Given the description of an element on the screen output the (x, y) to click on. 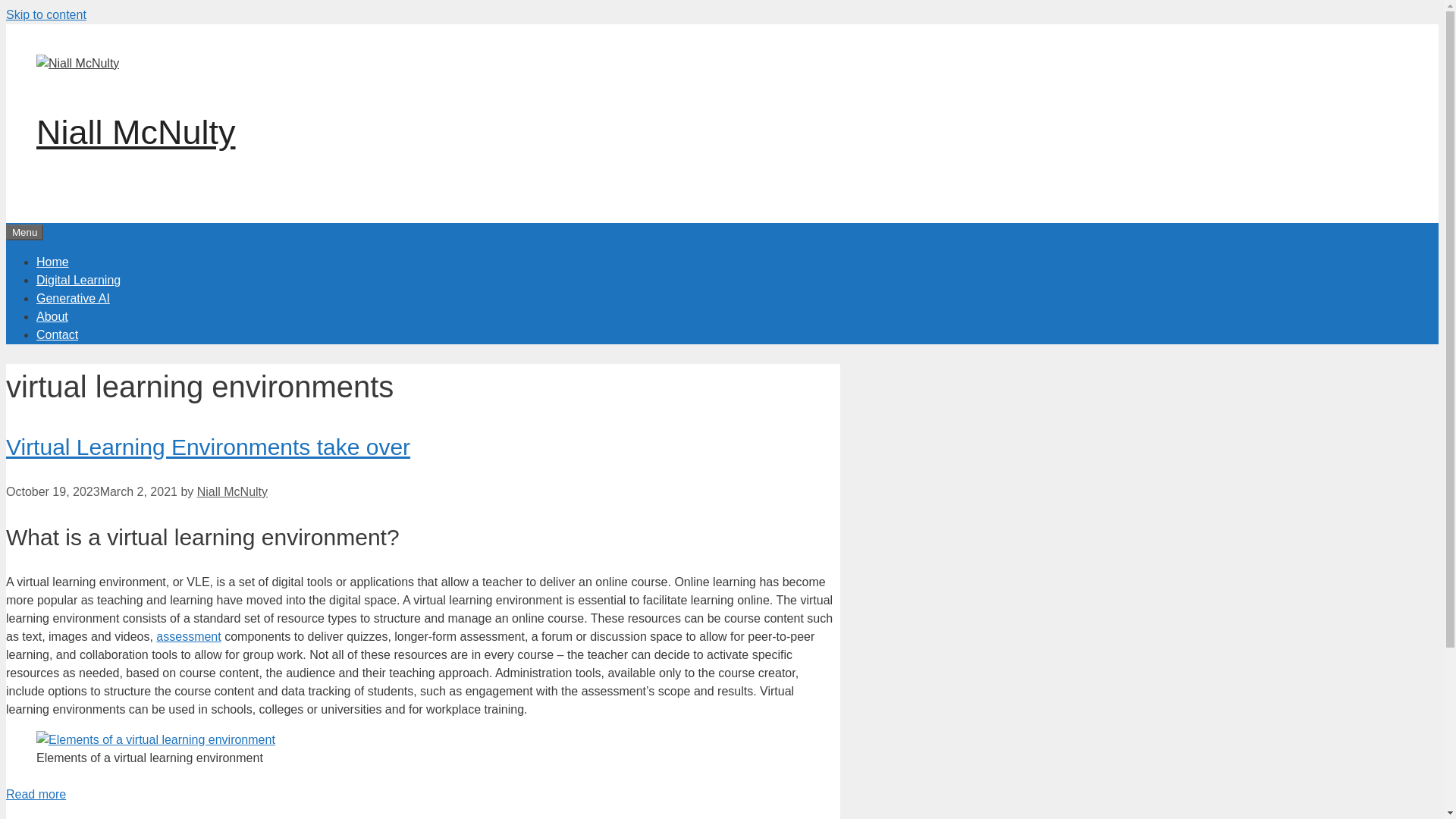
Niall McNulty (135, 132)
Generative AI (73, 297)
Home (52, 260)
Skip to content (45, 14)
Virtual Learning Environments take over (35, 793)
assessment (188, 635)
Menu (24, 232)
Digital Learning (78, 278)
View all posts by Niall McNulty (231, 491)
Contact (57, 333)
Read more (35, 793)
Virtual Learning Environments take over (207, 446)
